Given the description of an element on the screen output the (x, y) to click on. 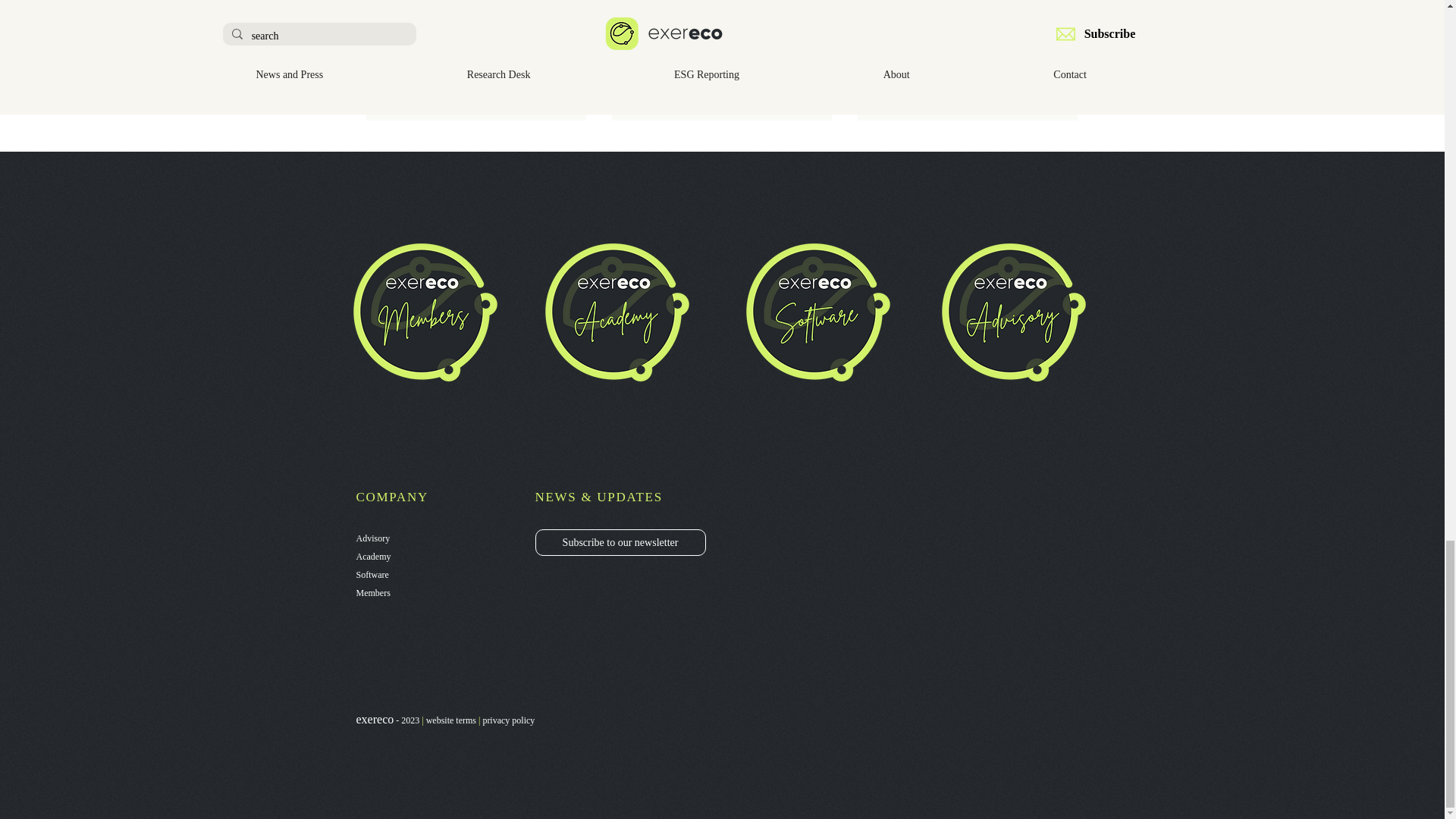
Heat Waves: A Global Crisis Unfolding (721, 75)
Advisory (373, 538)
Academy (373, 556)
Members (373, 593)
Software (372, 574)
Microsoft's Commitment to Carbon Removal and Reforestation (967, 75)
Subscribe to our newsletter (620, 542)
